Given the description of an element on the screen output the (x, y) to click on. 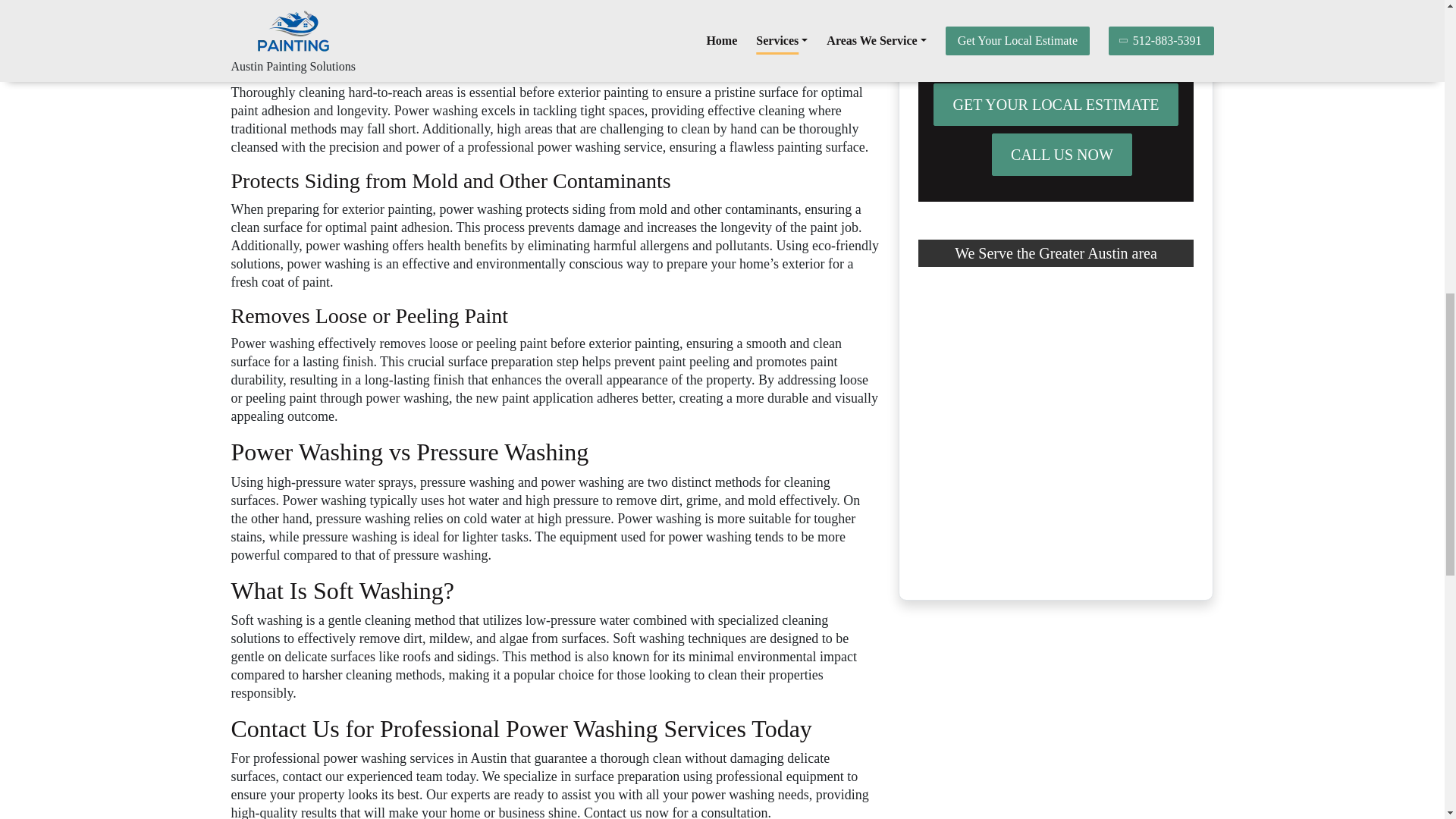
CALL US NOW (1061, 154)
GET YOUR LOCAL ESTIMATE (1055, 104)
